Given the description of an element on the screen output the (x, y) to click on. 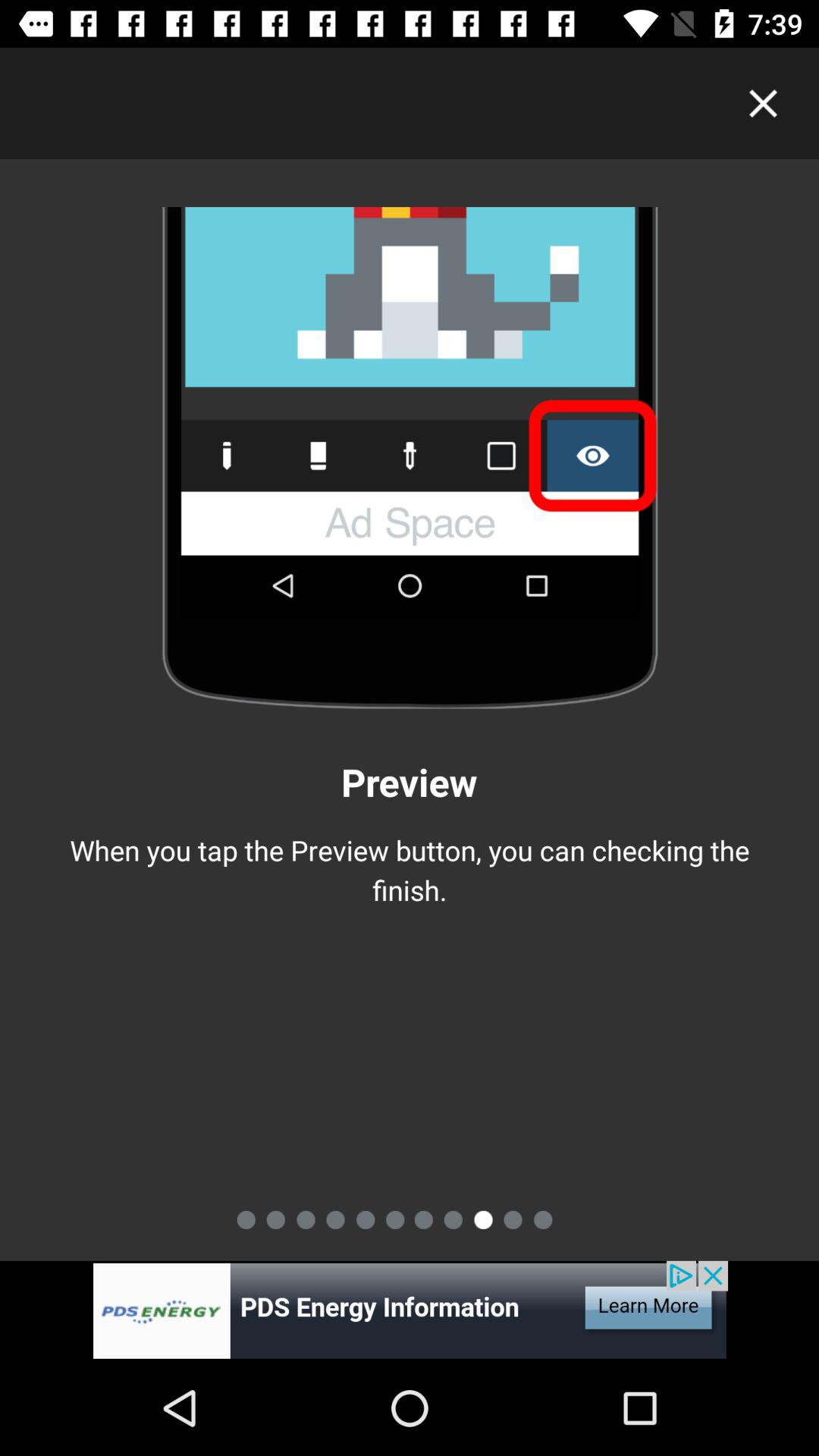
close option (763, 103)
